Given the description of an element on the screen output the (x, y) to click on. 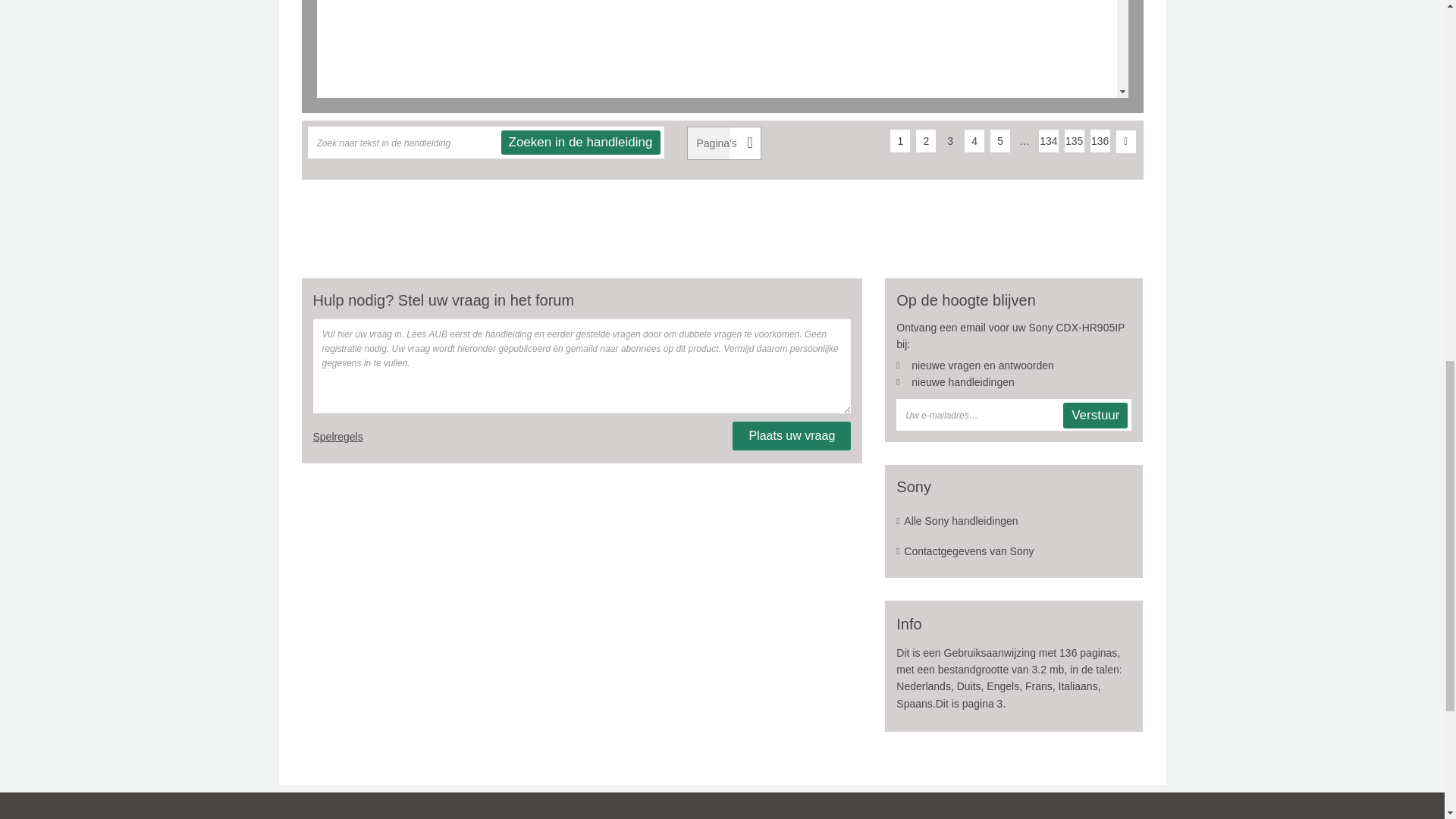
1 (899, 140)
Bekijk de contactgegevens van Sony (1013, 551)
2 (925, 140)
Spelregels (337, 436)
4 (973, 140)
Plaats uw vraag (791, 435)
Zoeken in de handleiding (580, 142)
Contactgegevens van Sony (1013, 551)
Zoeken in de handleiding (580, 142)
Verstuur (1094, 415)
Alle Sony handleidingen (1013, 521)
134 (1048, 140)
3rd party ad content (721, 224)
Plaats uw vraag (791, 435)
Sony handleidingen (1013, 521)
